Given the description of an element on the screen output the (x, y) to click on. 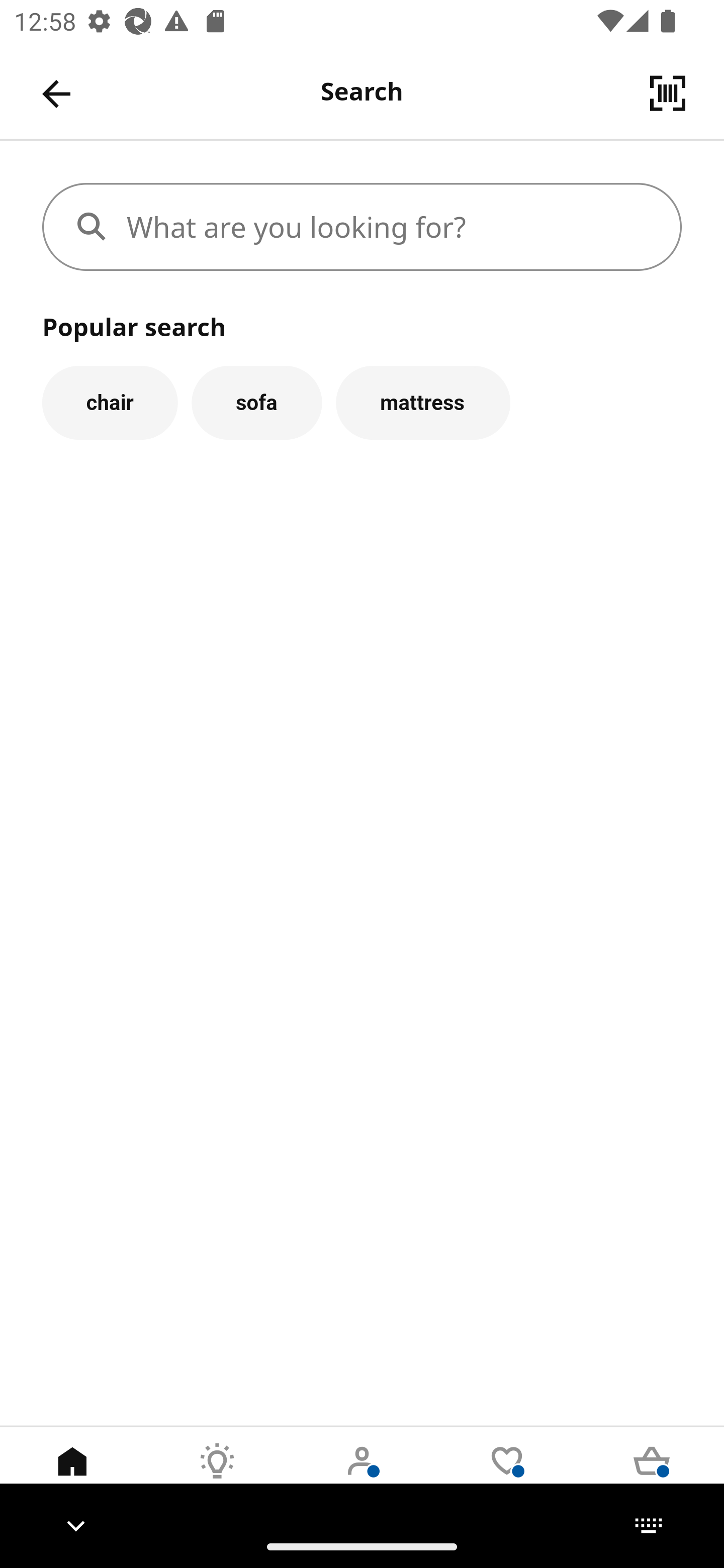
chair (109, 402)
sofa (256, 402)
mattress (423, 402)
Home
Tab 1 of 5 (72, 1476)
Inspirations
Tab 2 of 5 (216, 1476)
User
Tab 3 of 5 (361, 1476)
Wishlist
Tab 4 of 5 (506, 1476)
Cart
Tab 5 of 5 (651, 1476)
